Given the description of an element on the screen output the (x, y) to click on. 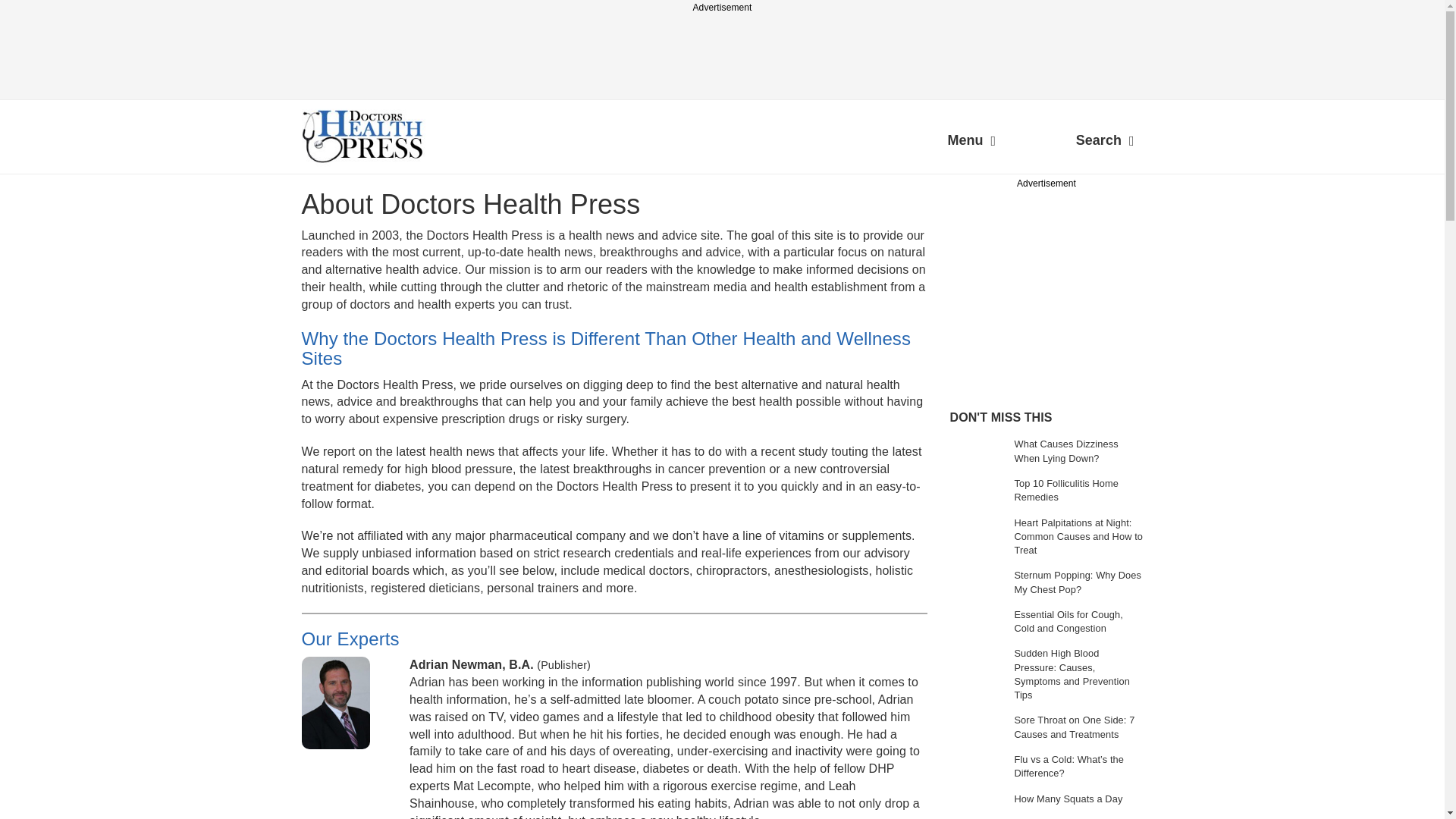
Menu (970, 142)
Search (1104, 142)
